Given the description of an element on the screen output the (x, y) to click on. 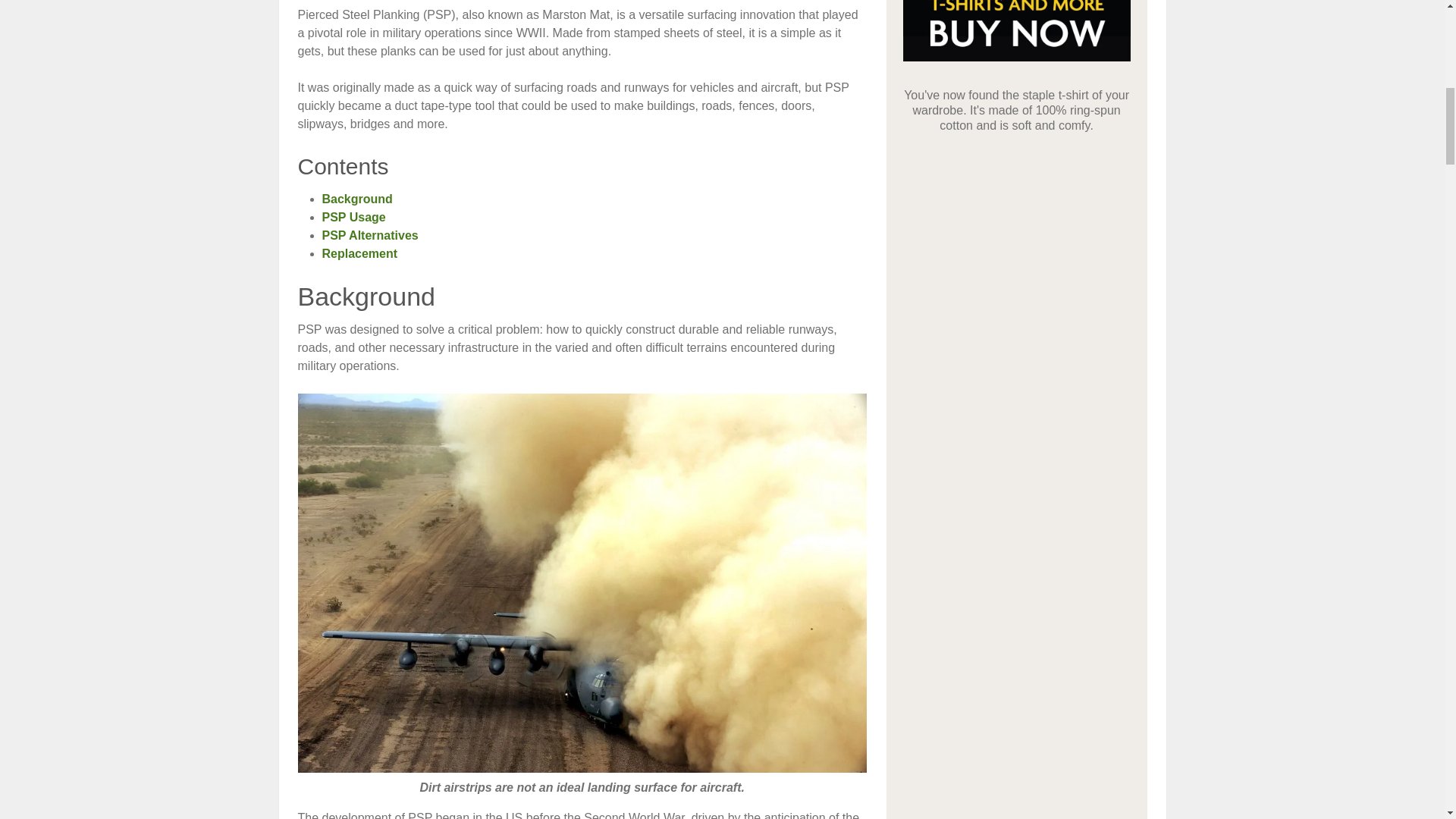
Replacement (359, 253)
PSP Usage (353, 216)
Background (356, 198)
PSP Alternatives (369, 235)
